Given the description of an element on the screen output the (x, y) to click on. 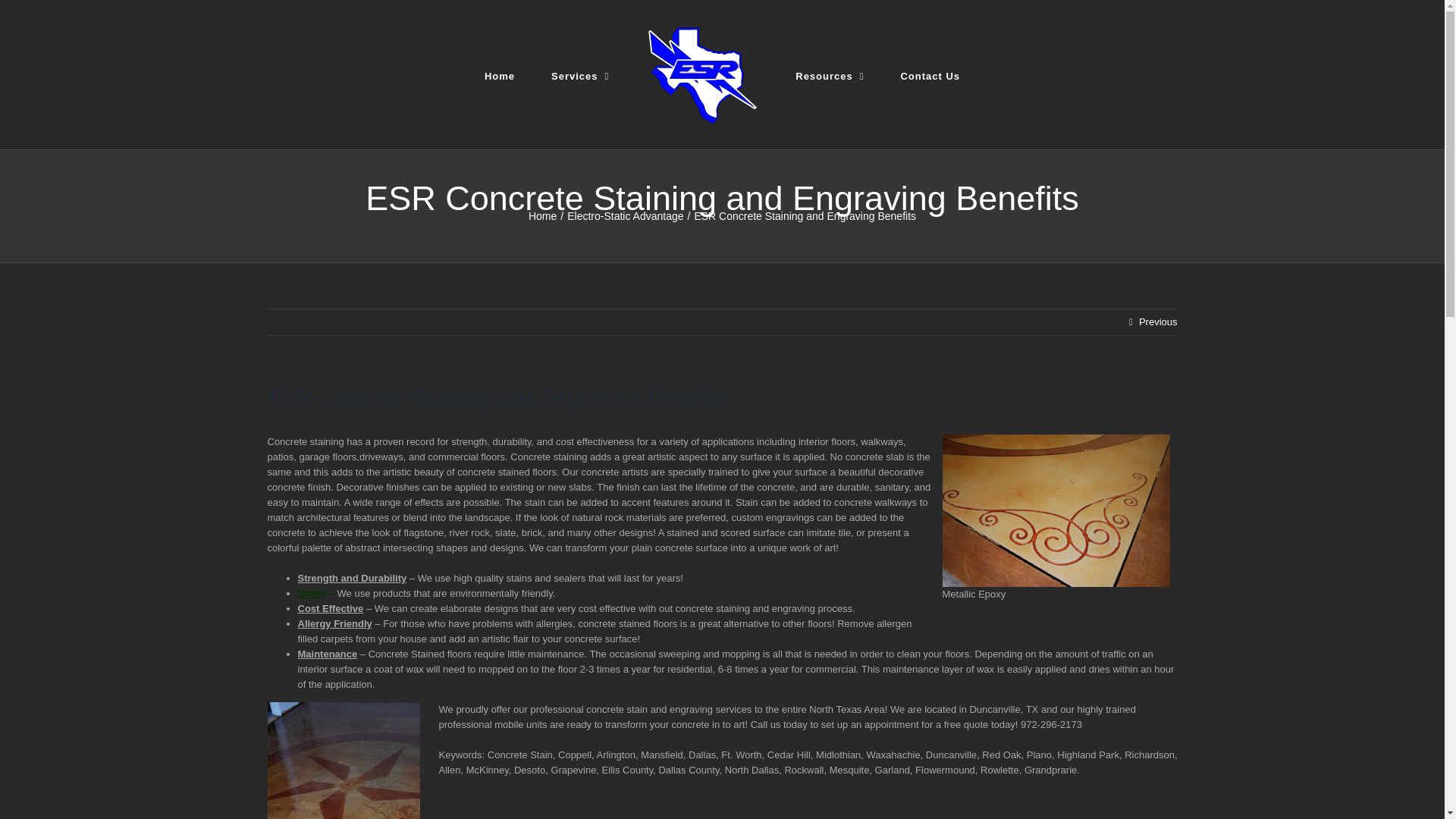
custom-star-logo-decorative-stained-concrete (342, 760)
home (499, 73)
Home (542, 215)
esr-concrete-engrave-and-stain-border-etch (1055, 510)
Electro-Static Advantage (624, 215)
Previous (1157, 321)
Home (499, 73)
contact (929, 73)
Contact Us (929, 73)
Resources (828, 73)
